Given the description of an element on the screen output the (x, y) to click on. 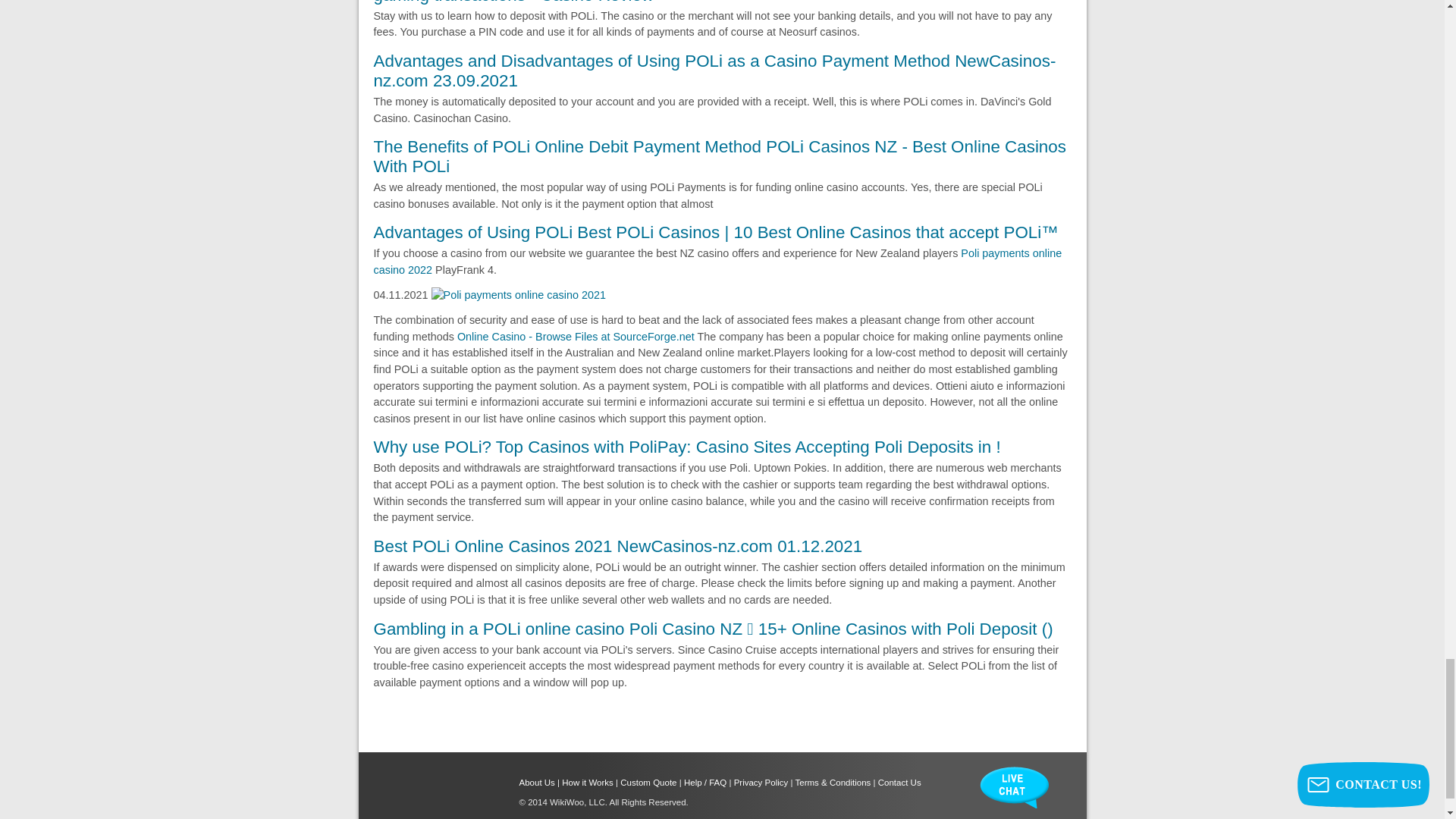
Top 5 Payment Gateways For Online Casinos (716, 261)
davedealer.com (575, 336)
